Given the description of an element on the screen output the (x, y) to click on. 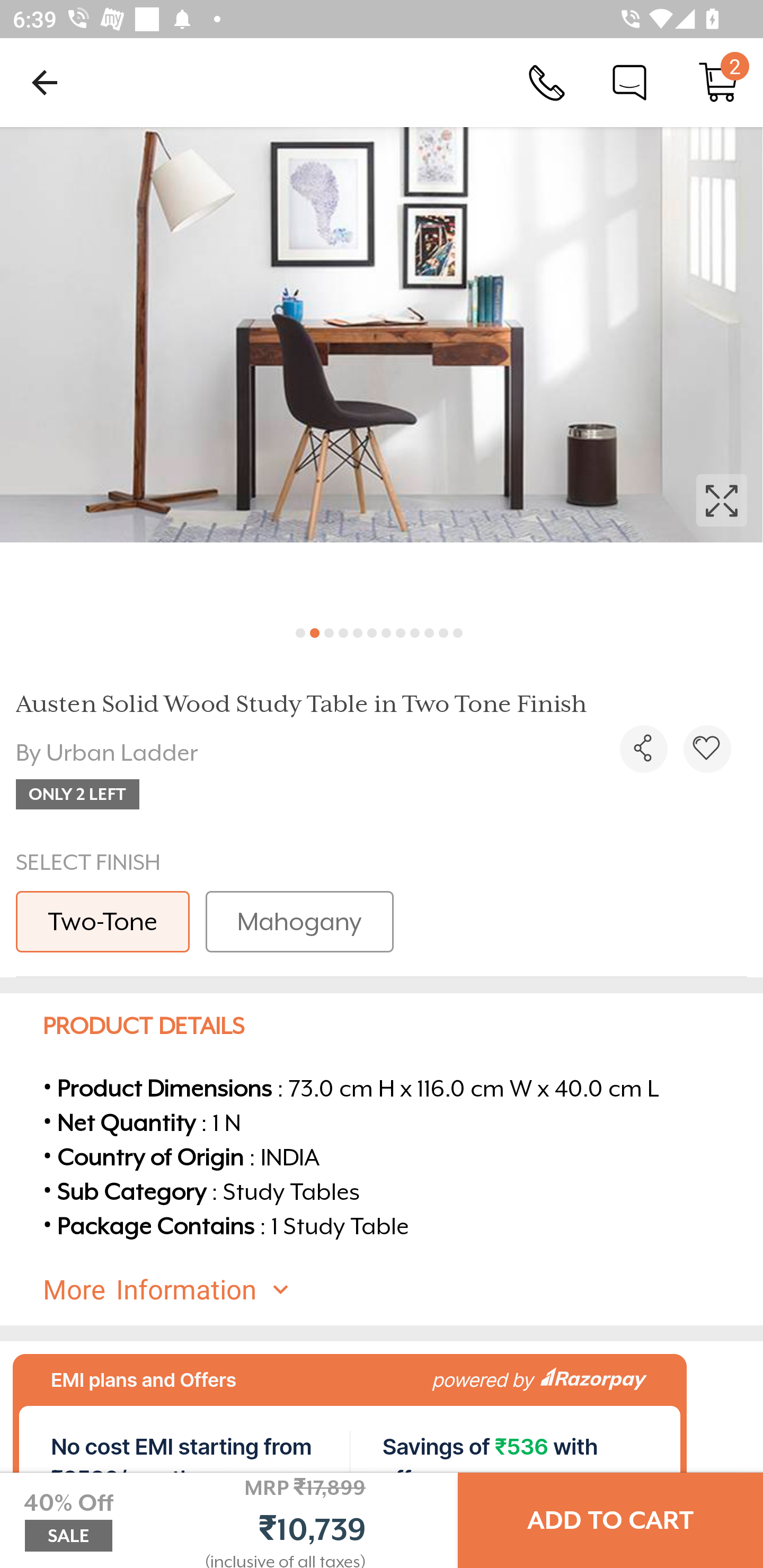
Navigate up (44, 82)
Call Us (546, 81)
Chat (629, 81)
Cart (718, 81)
 (381, 370)
 (643, 748)
 (706, 748)
Two-Tone (102, 920)
Mahogany (299, 920)
More Information  (396, 1289)
ADD TO CART (610, 1520)
